Given the description of an element on the screen output the (x, y) to click on. 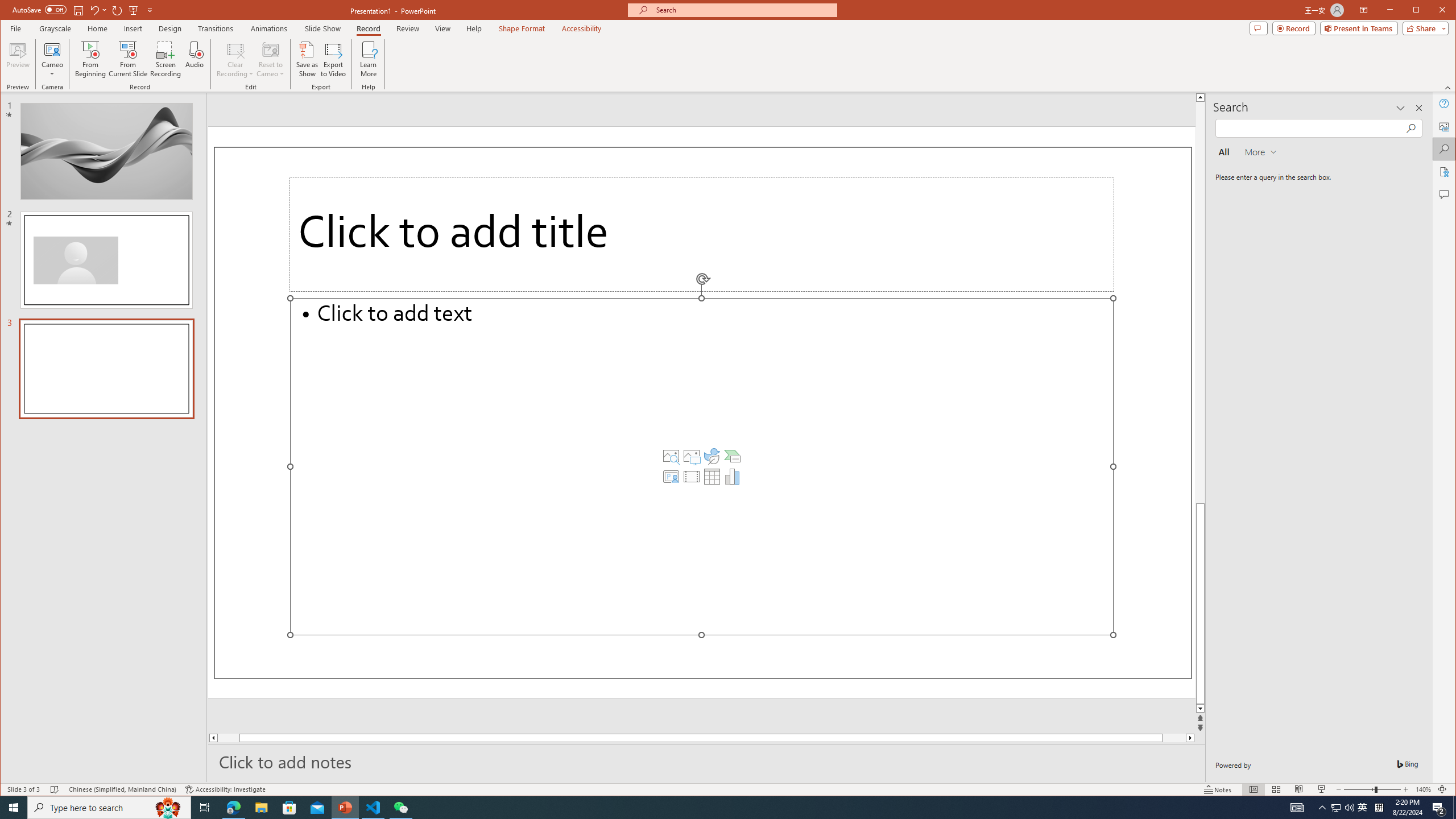
Redo (1362, 807)
